Given the description of an element on the screen output the (x, y) to click on. 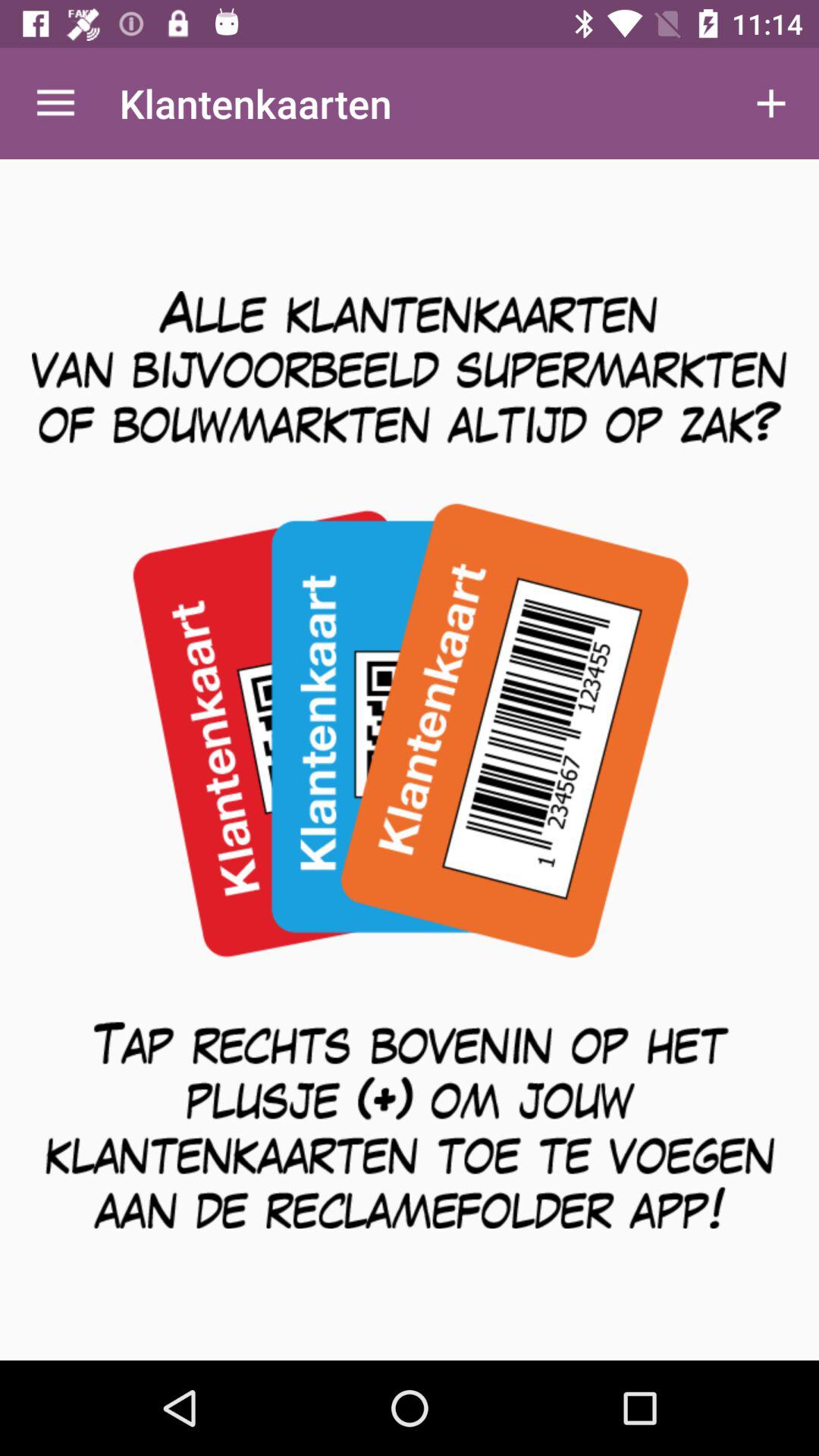
tap the app next to klantenkaarten icon (55, 103)
